Given the description of an element on the screen output the (x, y) to click on. 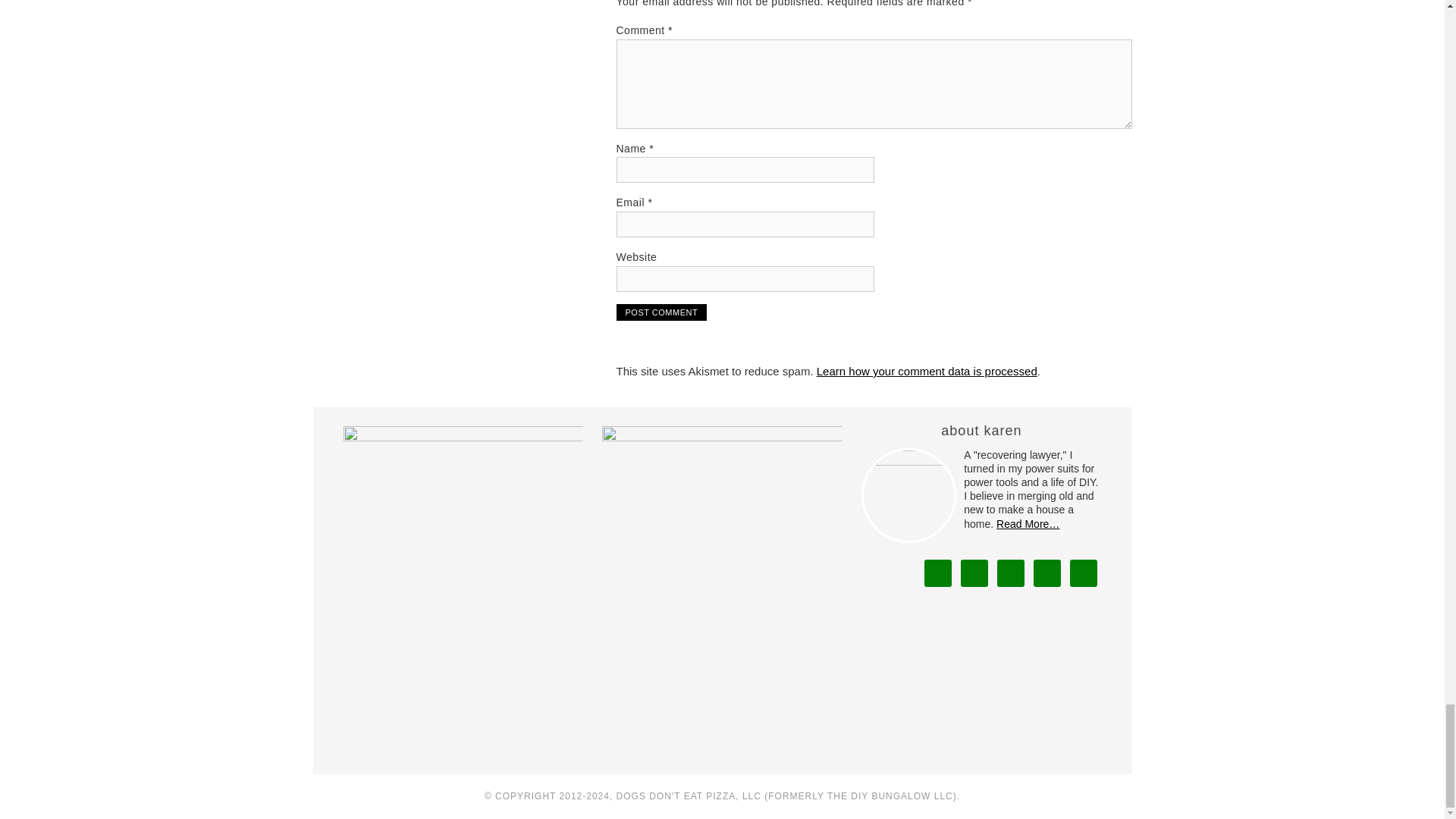
Post Comment (660, 312)
